Given the description of an element on the screen output the (x, y) to click on. 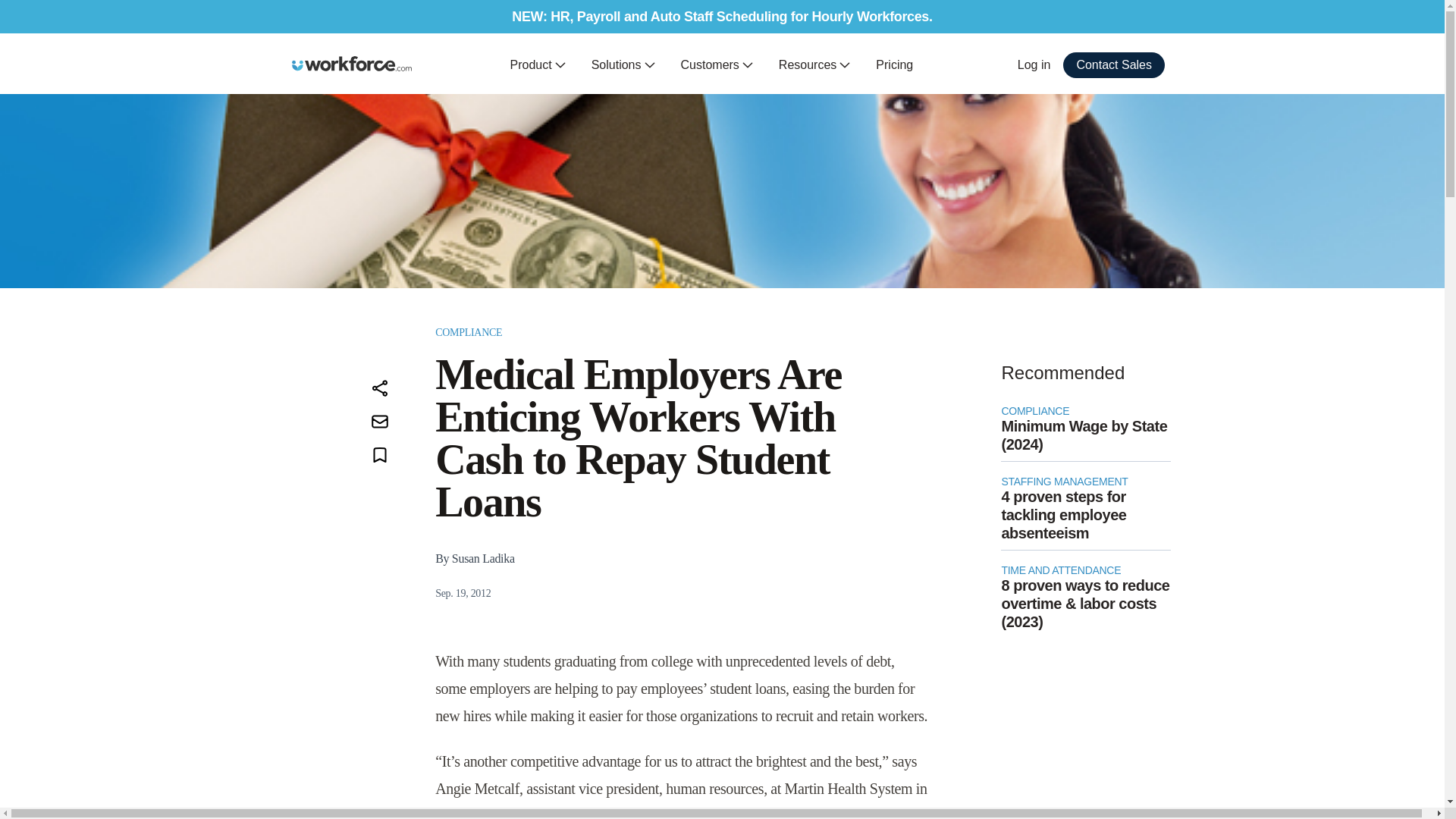
Solutions (623, 65)
Workforce.com (351, 63)
Product (539, 65)
